Given the description of an element on the screen output the (x, y) to click on. 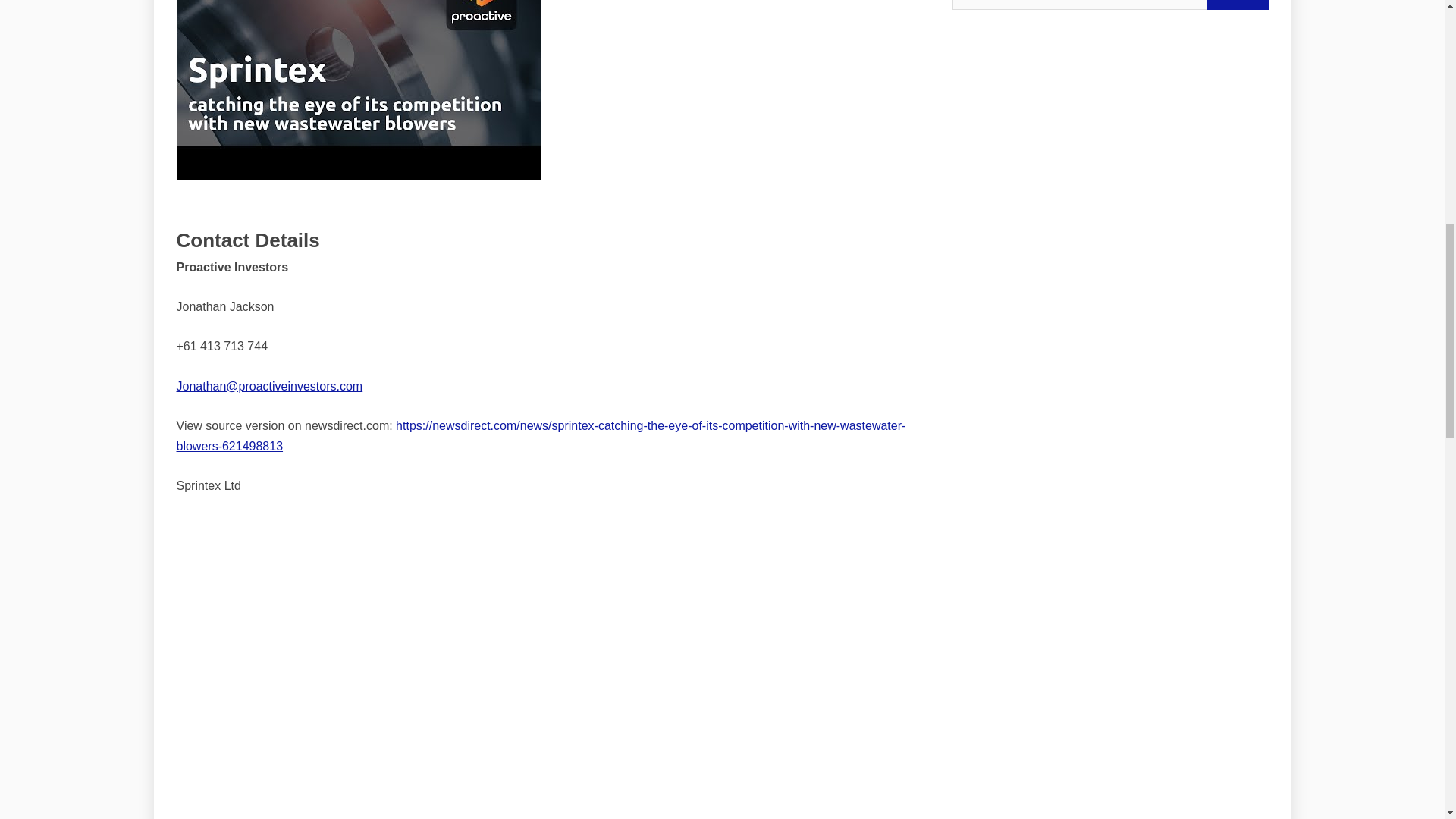
Search (1236, 4)
Search (1236, 4)
